Given the description of an element on the screen output the (x, y) to click on. 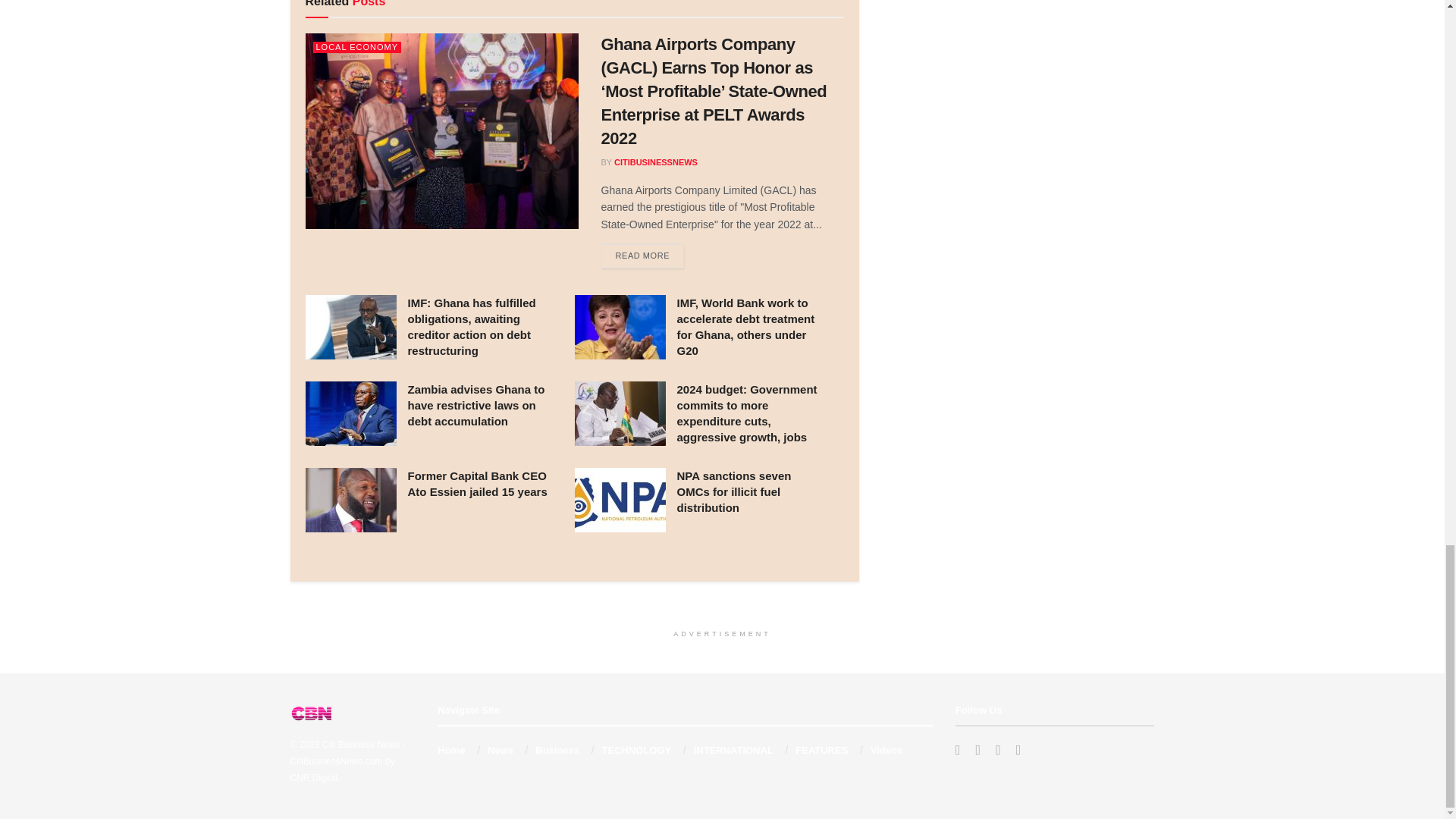
Citi Business News (360, 744)
CNR Digital (313, 777)
